Given the description of an element on the screen output the (x, y) to click on. 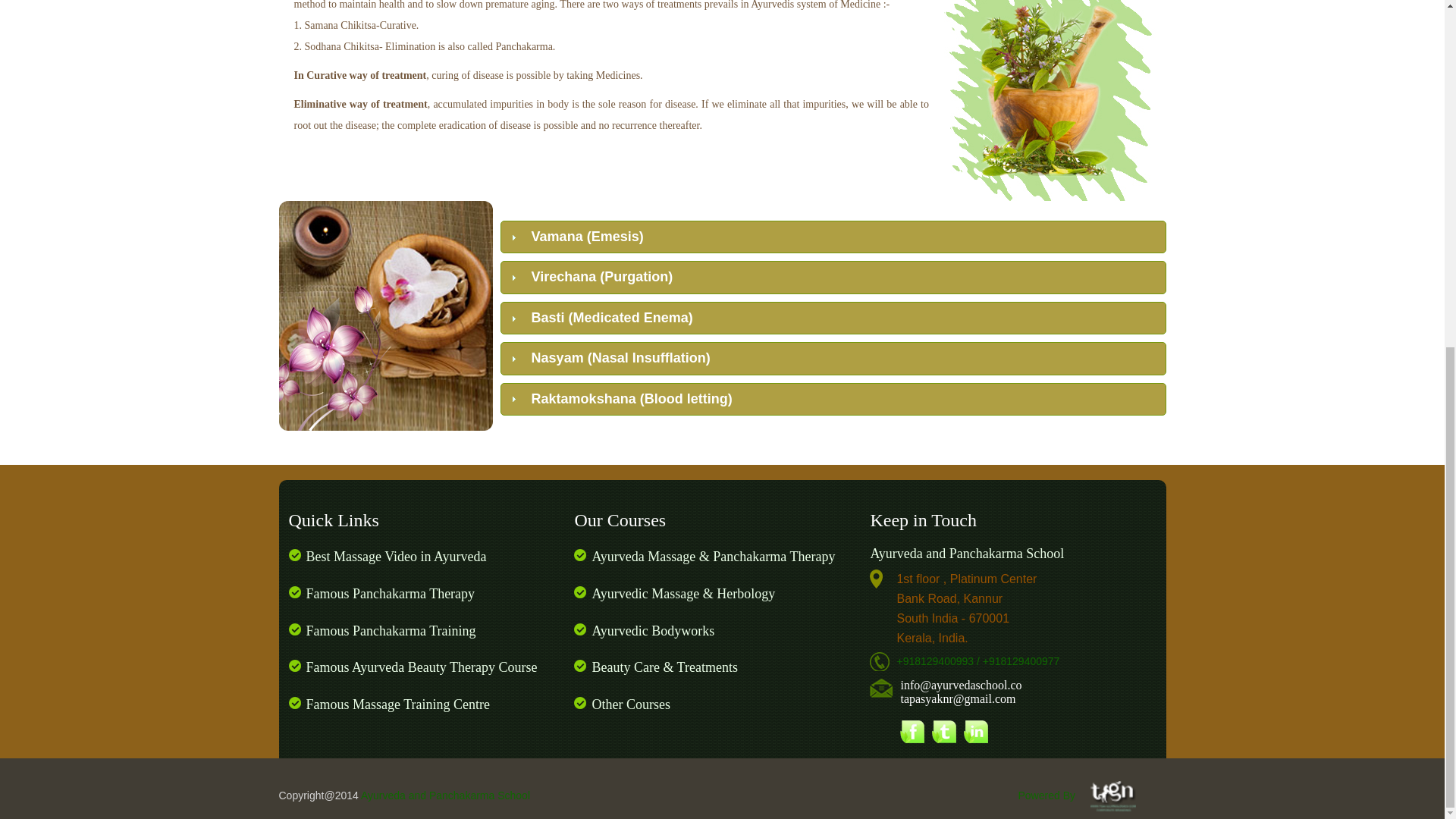
TGN Technologies Pvt Ltd (1112, 796)
aayurveda (1049, 100)
Famous Ayurveda Beauty Therapy Course (421, 667)
Twitter (943, 731)
Famous Panchakarma Training (390, 630)
Ayurveda and Panchakarma School (445, 795)
Facebook (911, 731)
College of Ayurveda in Dharmasthalam (386, 315)
Other Courses (630, 703)
Ayurvedic Bodyworks (652, 630)
